Given the description of an element on the screen output the (x, y) to click on. 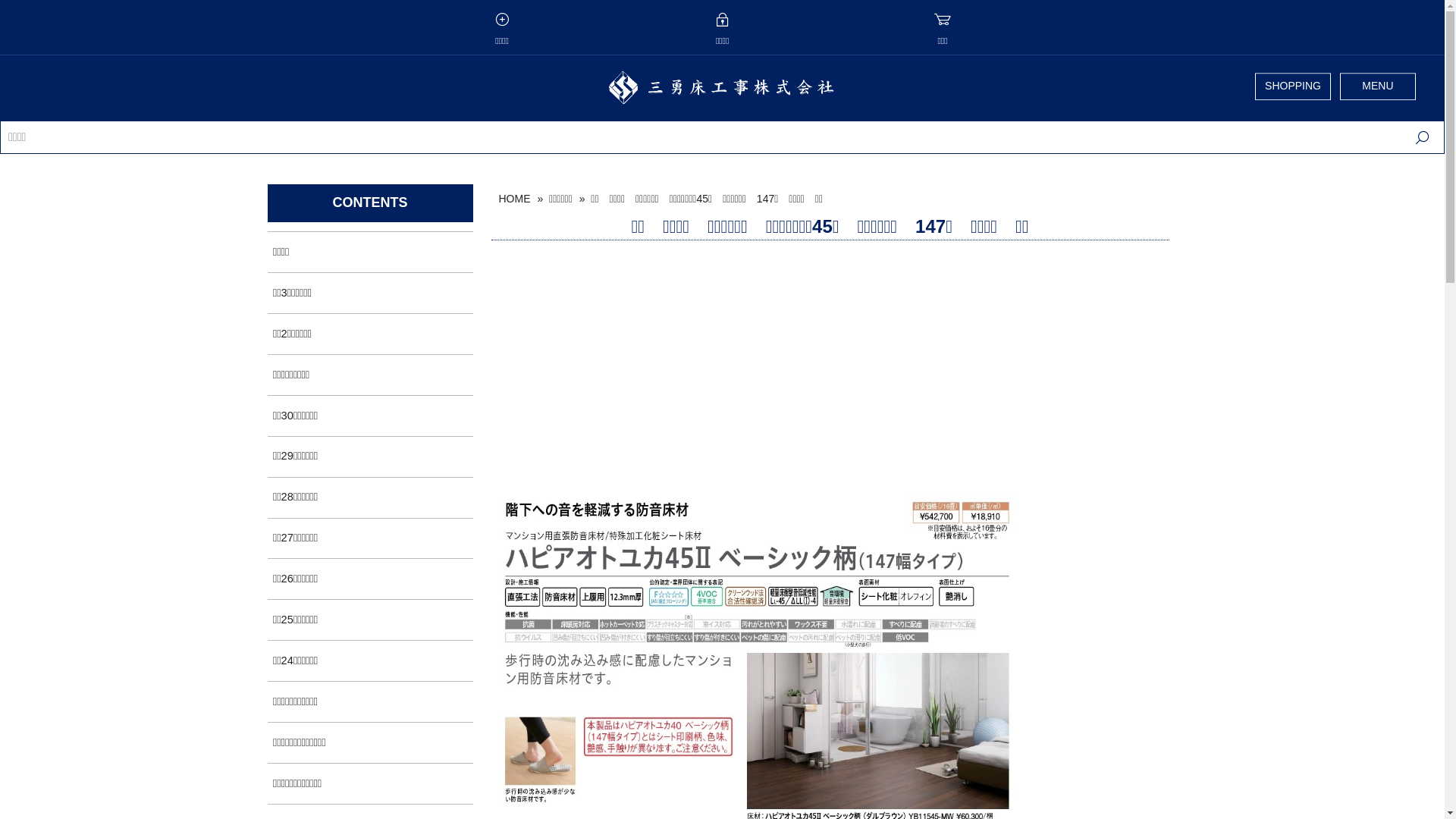
MENU Element type: text (1377, 86)
SHOPPING Element type: text (1292, 86)
HOME Element type: text (514, 198)
